Given the description of an element on the screen output the (x, y) to click on. 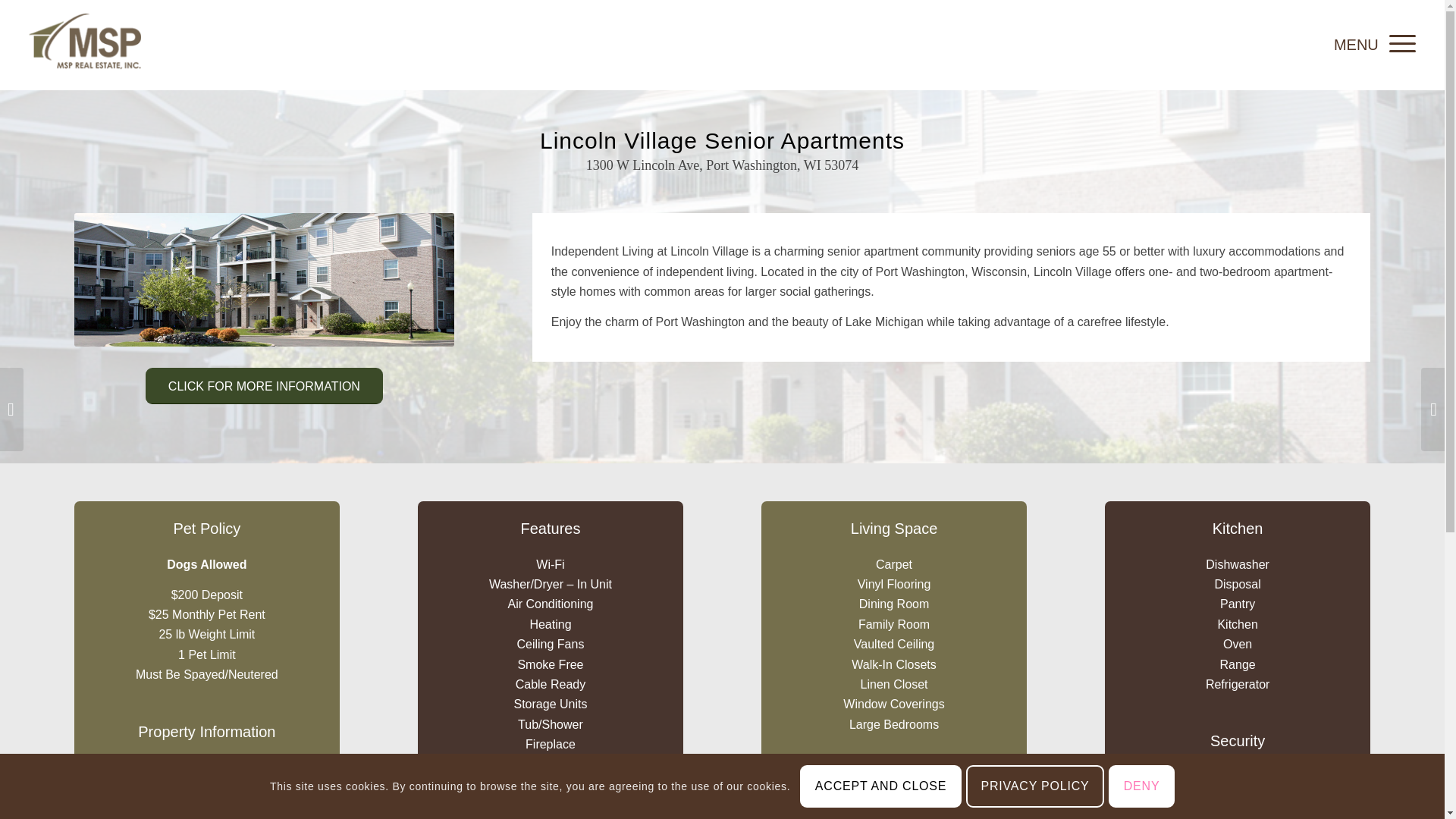
ACCEPT AND CLOSE (879, 785)
PRIVACY POLICY (1034, 785)
CLICK FOR MORE INFORMATION (263, 385)
DENY (1141, 785)
